Given the description of an element on the screen output the (x, y) to click on. 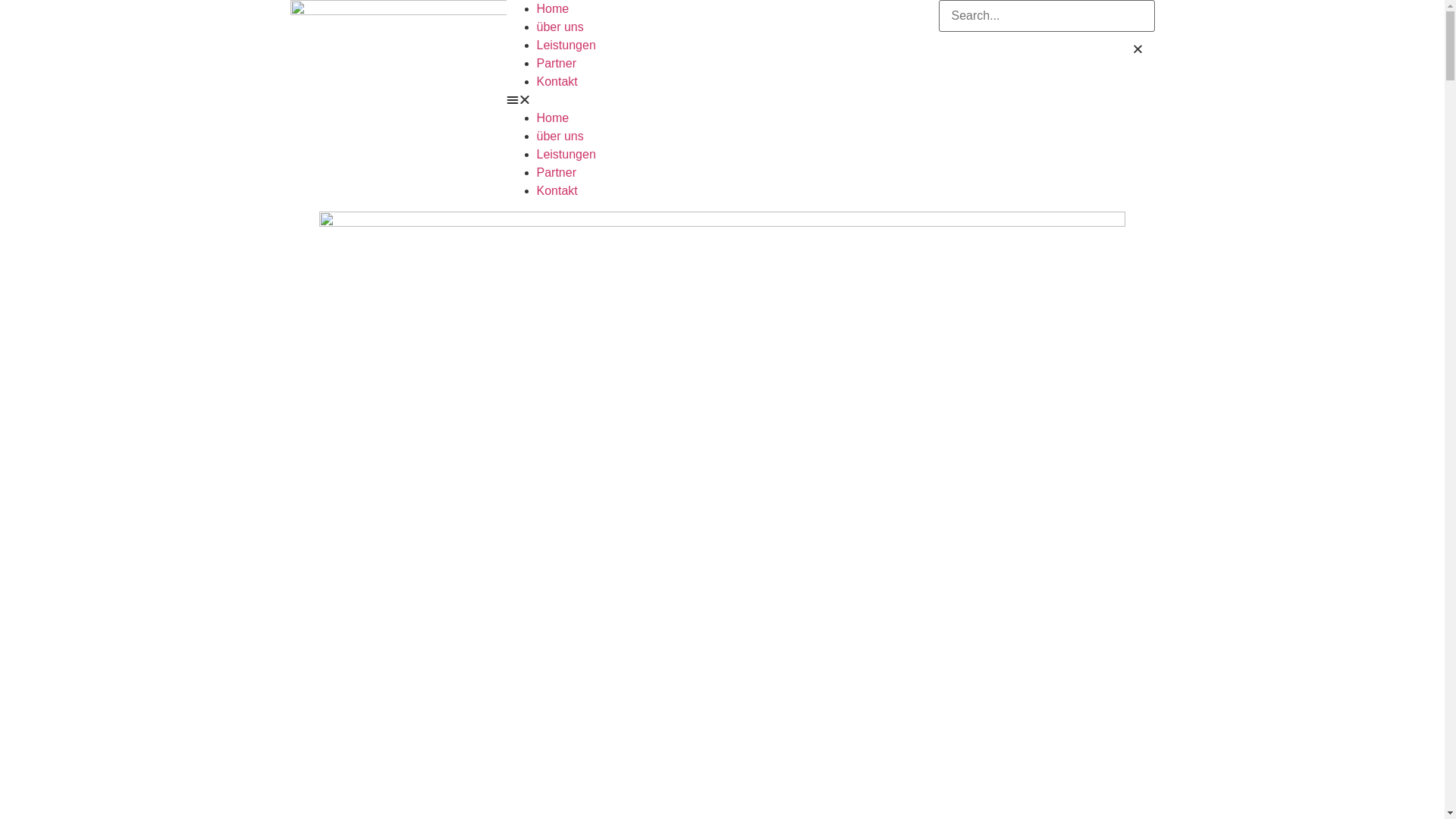
Partner Element type: text (556, 172)
Kontakt Element type: text (556, 190)
Kontakt Element type: text (556, 81)
Home Element type: text (552, 117)
Partner Element type: text (556, 62)
Leistungen Element type: text (566, 153)
Home Element type: text (552, 8)
Leistungen Element type: text (566, 44)
